Given the description of an element on the screen output the (x, y) to click on. 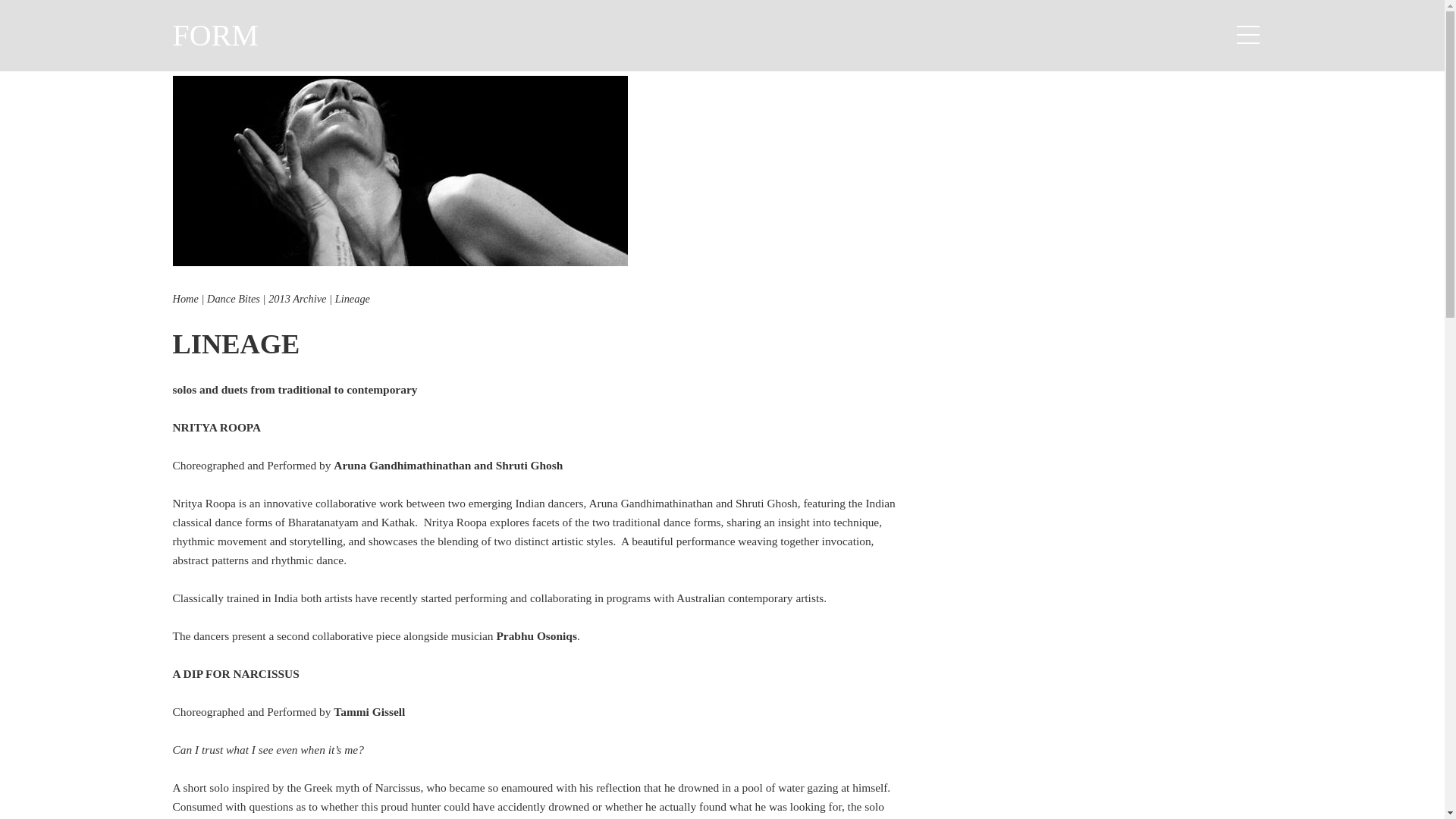
Dance Bites (233, 298)
FORM (216, 35)
2013 Archive (296, 298)
Home (185, 298)
